Given the description of an element on the screen output the (x, y) to click on. 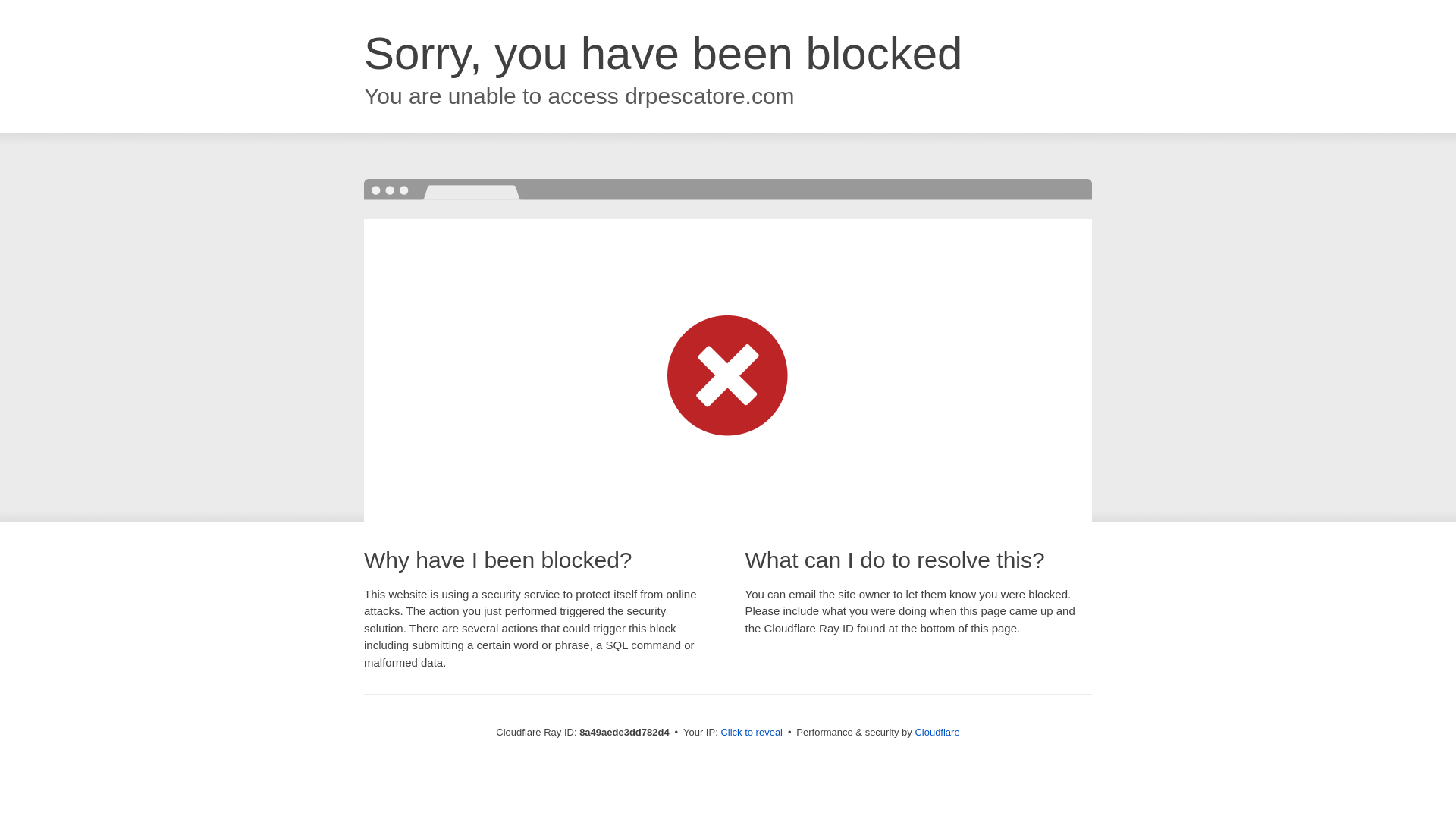
Click to reveal (751, 732)
Cloudflare (936, 731)
